Given the description of an element on the screen output the (x, y) to click on. 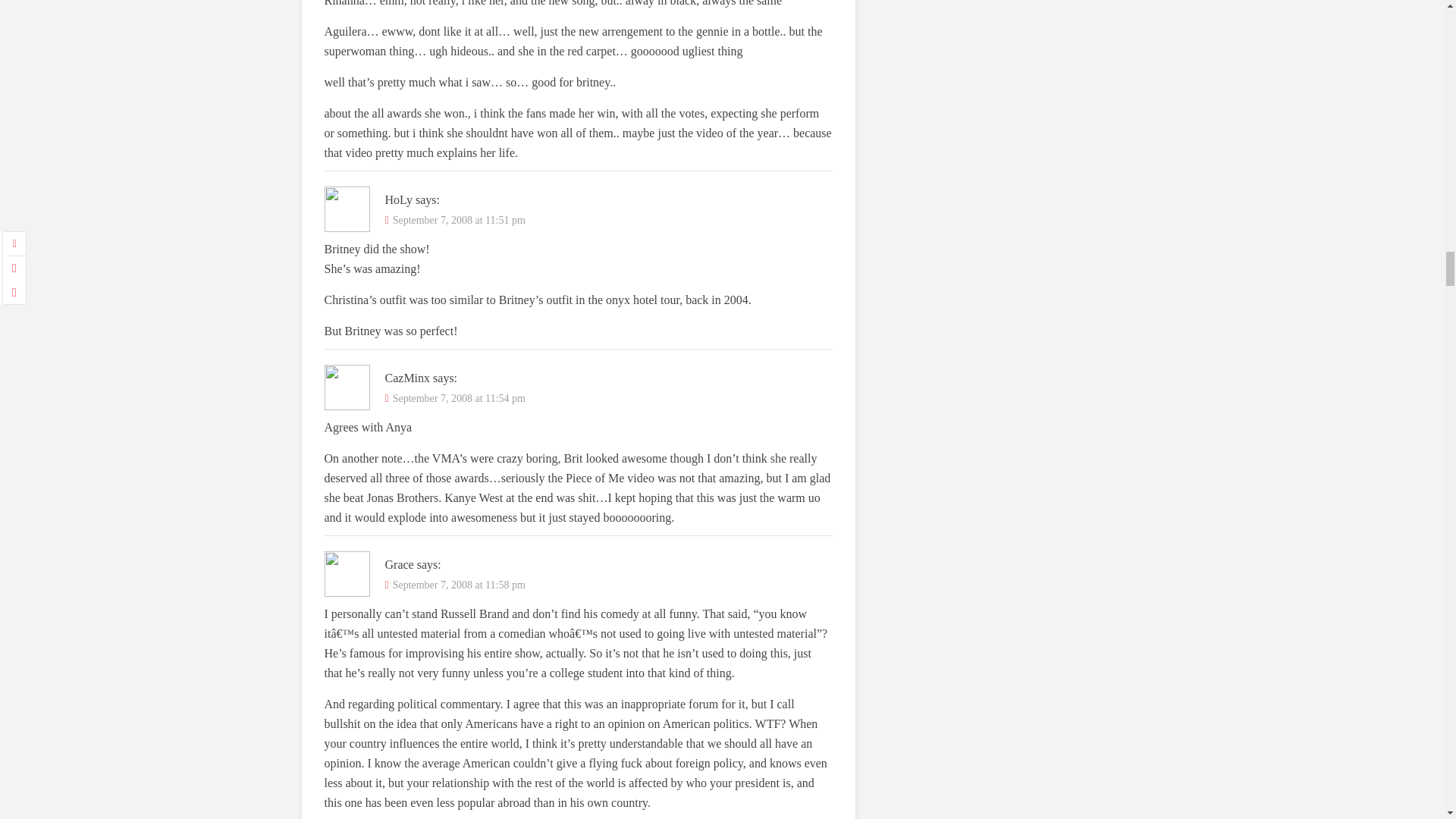
September 7, 2008 at 11:51 pm (459, 220)
September 7, 2008 at 11:54 pm (459, 398)
September 7, 2008 at 11:58 pm (459, 584)
CazMinx (407, 377)
